Given the description of an element on the screen output the (x, y) to click on. 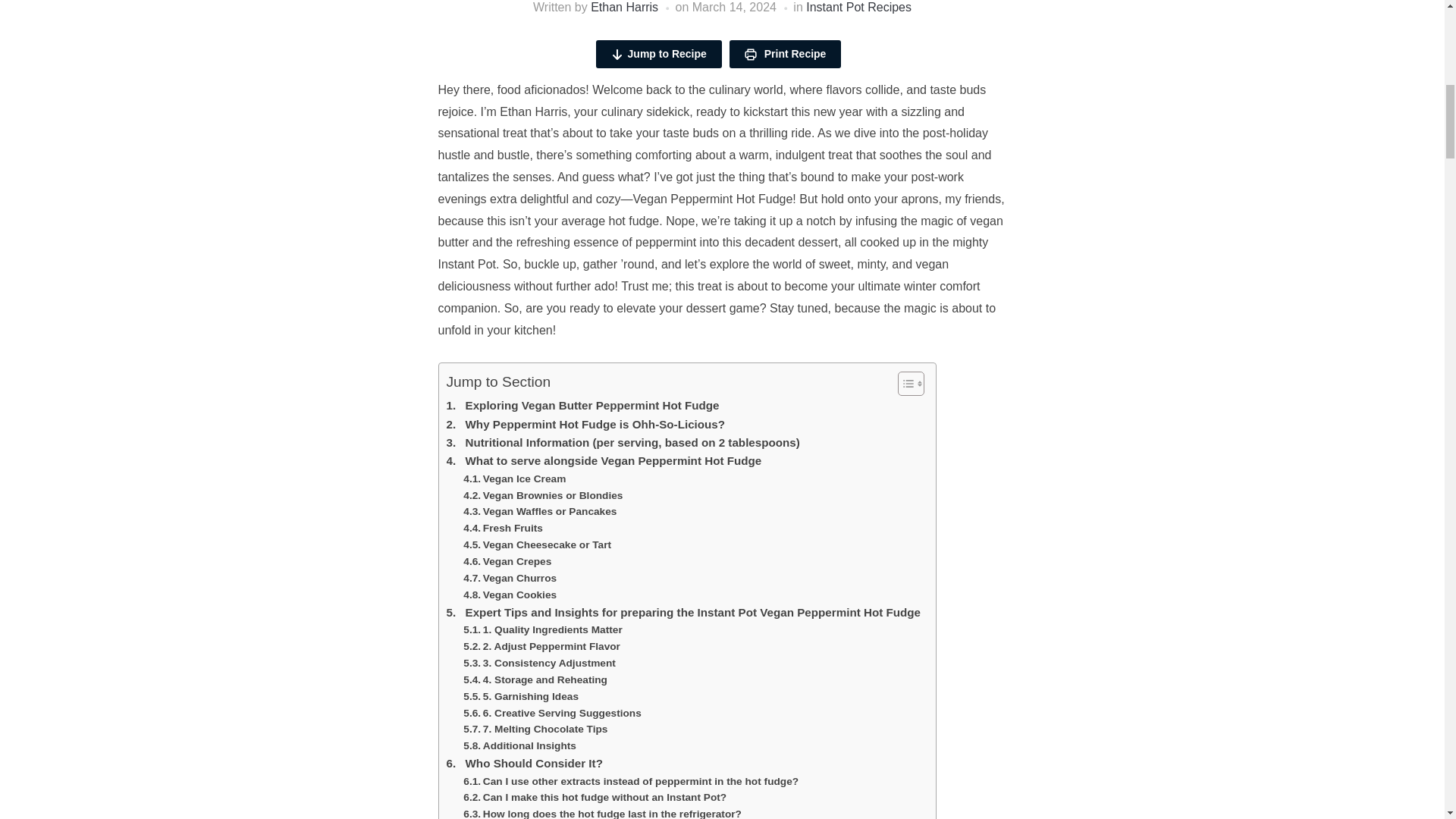
Why Peppermint Hot Fudge is Ohh-So-Licious? (585, 424)
Instant Pot Recipes (858, 6)
Vegan Crepes (507, 561)
Vegan Cheesecake or Tart (537, 545)
Vegan Brownies or Blondies (543, 495)
What to serve alongside Vegan Peppermint Hot Fudge (603, 461)
Exploring Vegan Butter Peppermint Hot Fudge (582, 405)
Vegan Brownies or Blondies (543, 495)
Print Recipe (785, 53)
Vegan Waffles or Pancakes (539, 511)
Jump to Recipe (658, 53)
Fresh Fruits (503, 528)
What to serve alongside Vegan Peppermint Hot Fudge (603, 461)
Vegan Ice Cream (514, 478)
